Given the description of an element on the screen output the (x, y) to click on. 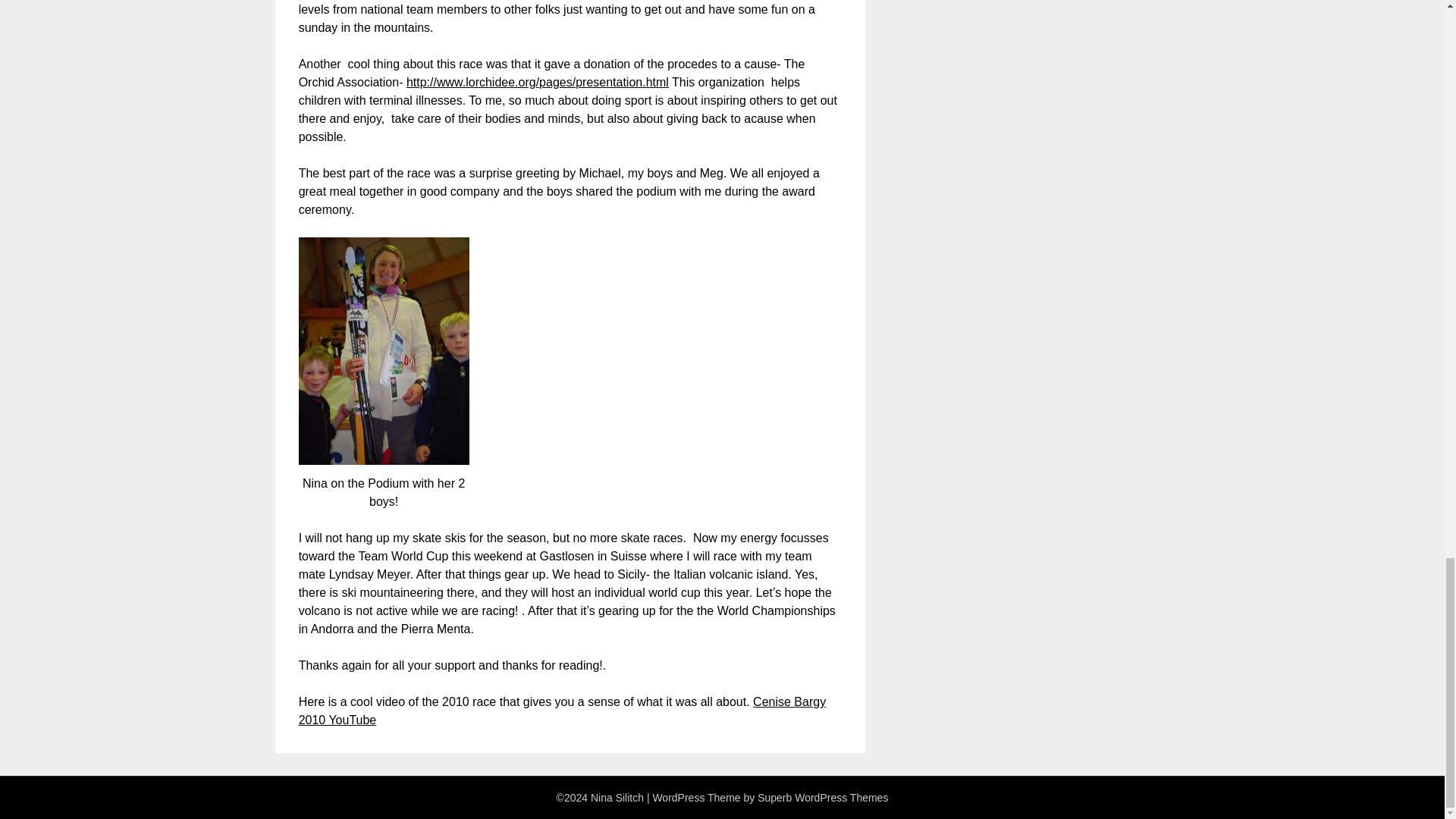
Cenise Bargy 2010 YouTube (562, 710)
